Given the description of an element on the screen output the (x, y) to click on. 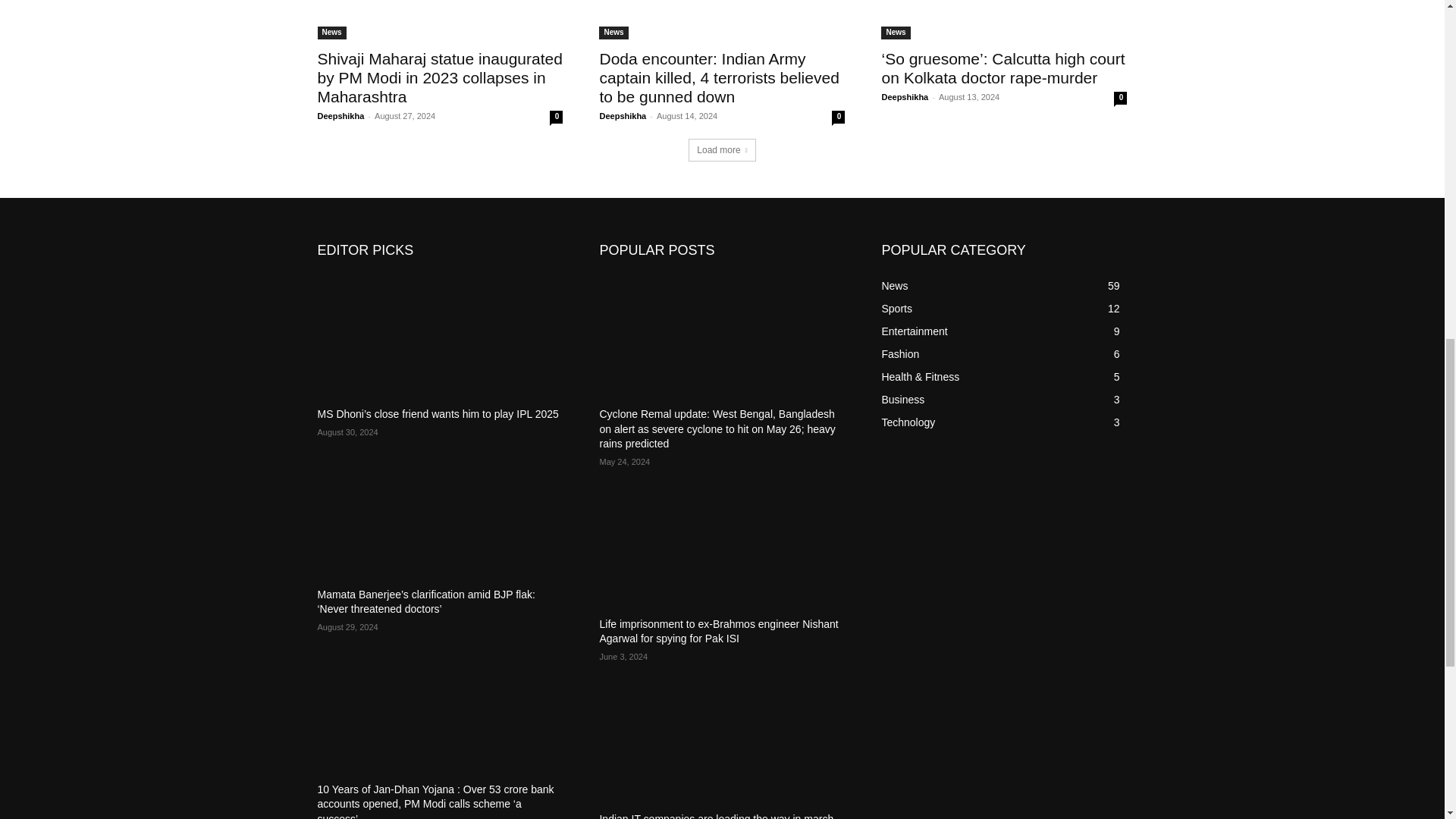
News (331, 32)
